Given the description of an element on the screen output the (x, y) to click on. 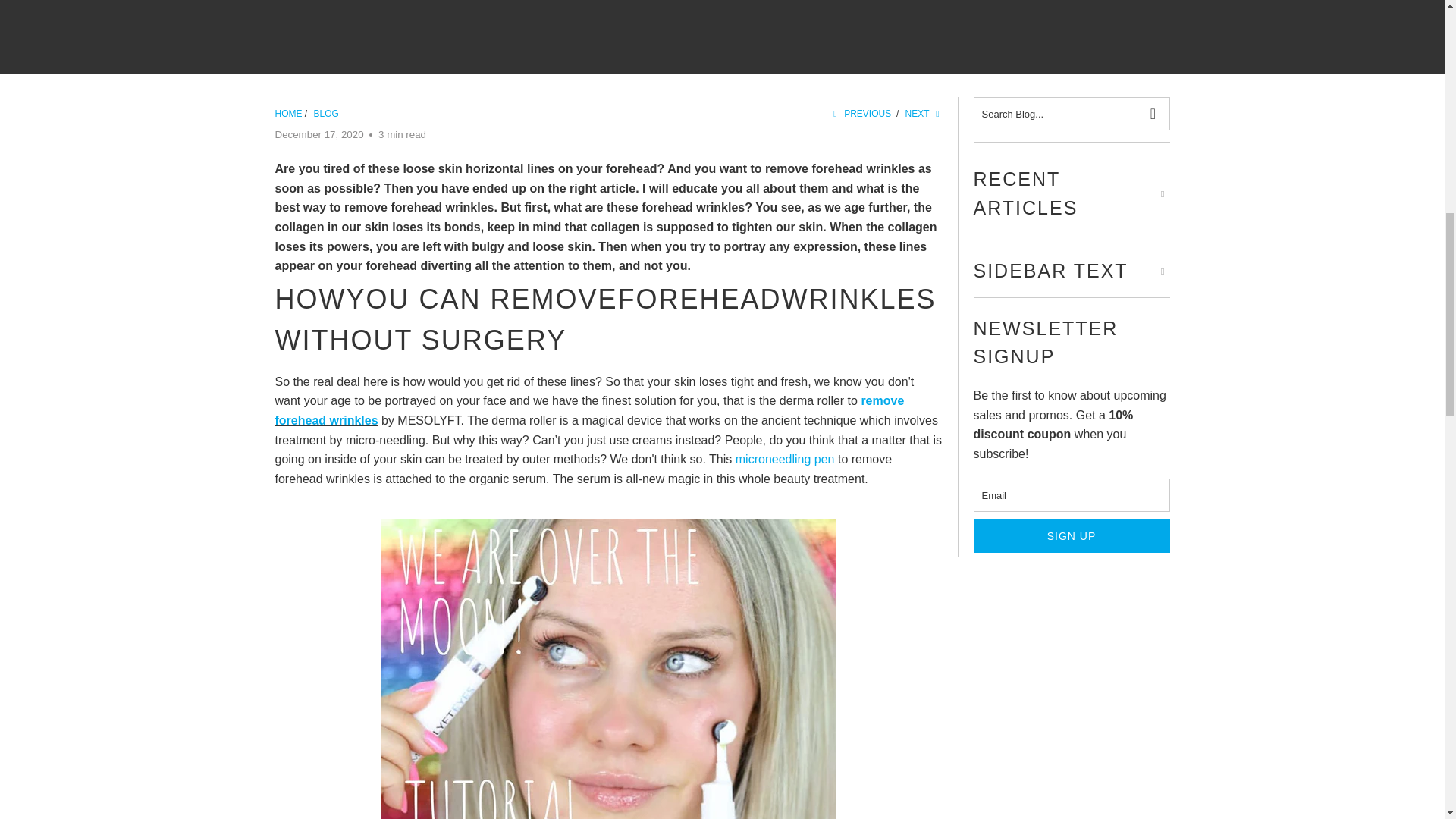
Blog (326, 113)
Sign Up (1072, 535)
BLOG (326, 113)
PREVIOUS (860, 113)
remove forehead wrinkles (589, 409)
microneedling pen (784, 459)
MesoLyft  (288, 113)
microneedling pen (784, 459)
remove forehead wrinkles (589, 409)
